Given the description of an element on the screen output the (x, y) to click on. 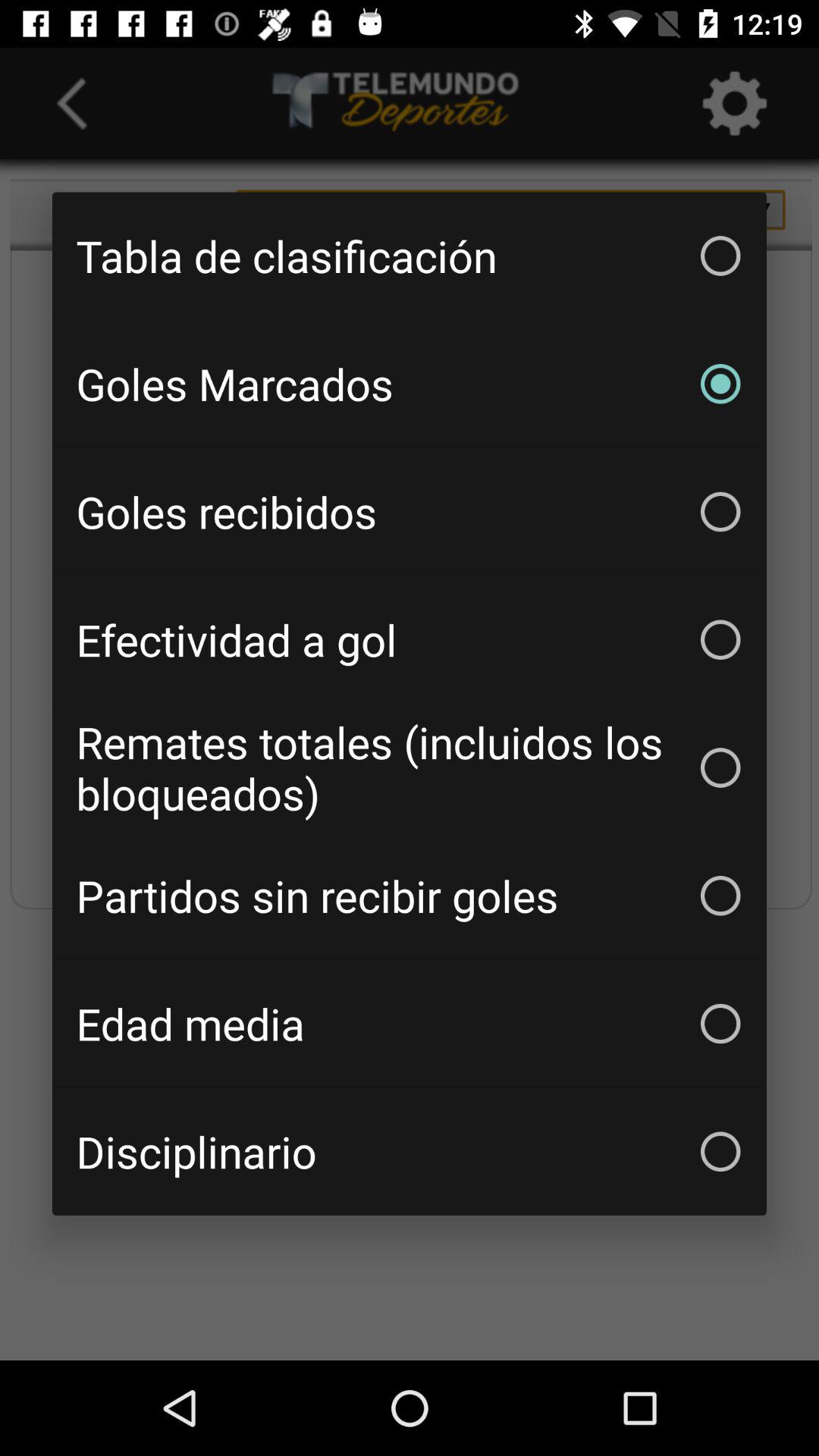
open the item below the edad media icon (409, 1151)
